Given the description of an element on the screen output the (x, y) to click on. 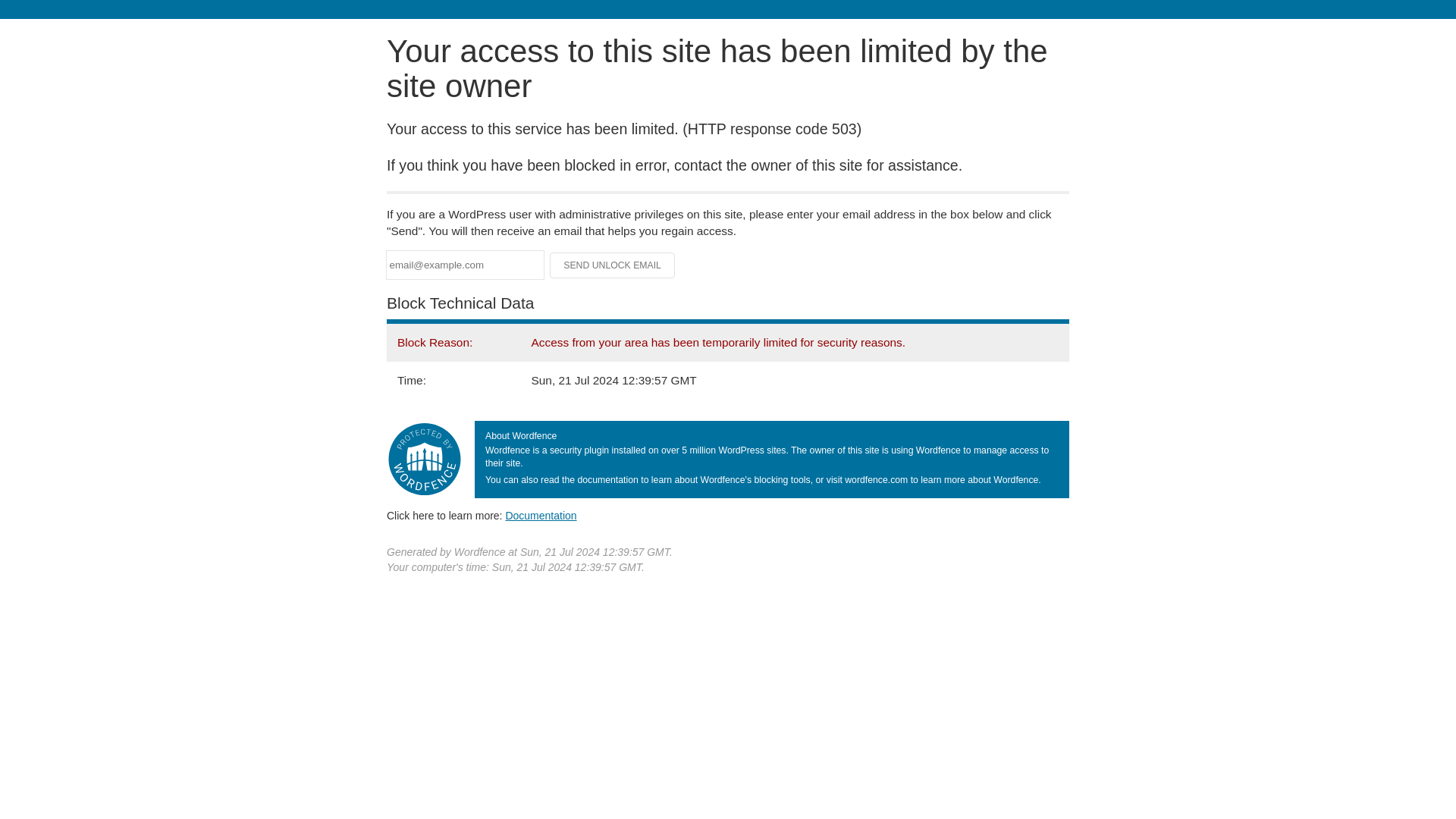
Documentation (540, 515)
Send Unlock Email (612, 265)
Send Unlock Email (612, 265)
